Given the description of an element on the screen output the (x, y) to click on. 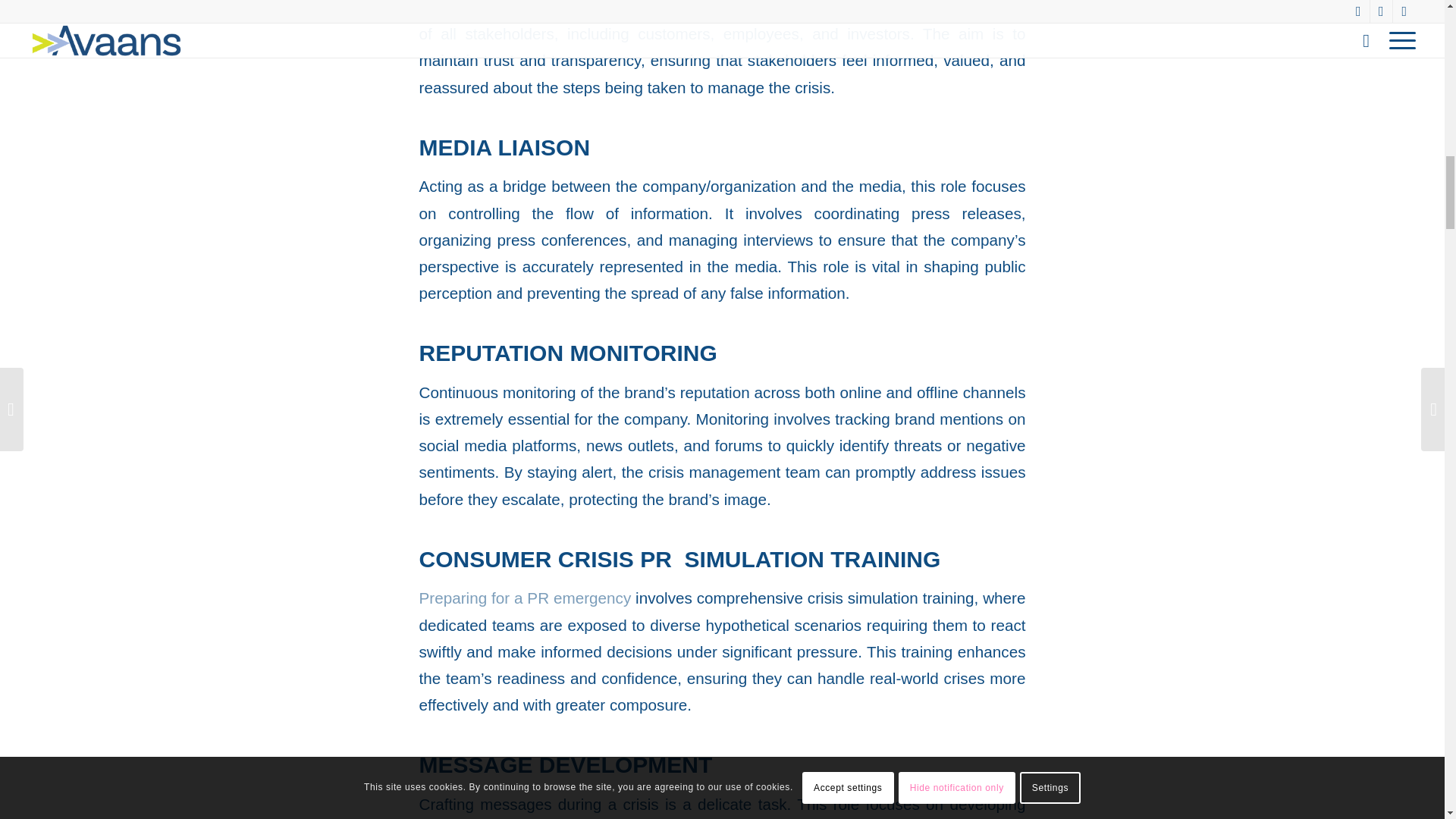
Preparing for a PR emergency (524, 597)
